Given the description of an element on the screen output the (x, y) to click on. 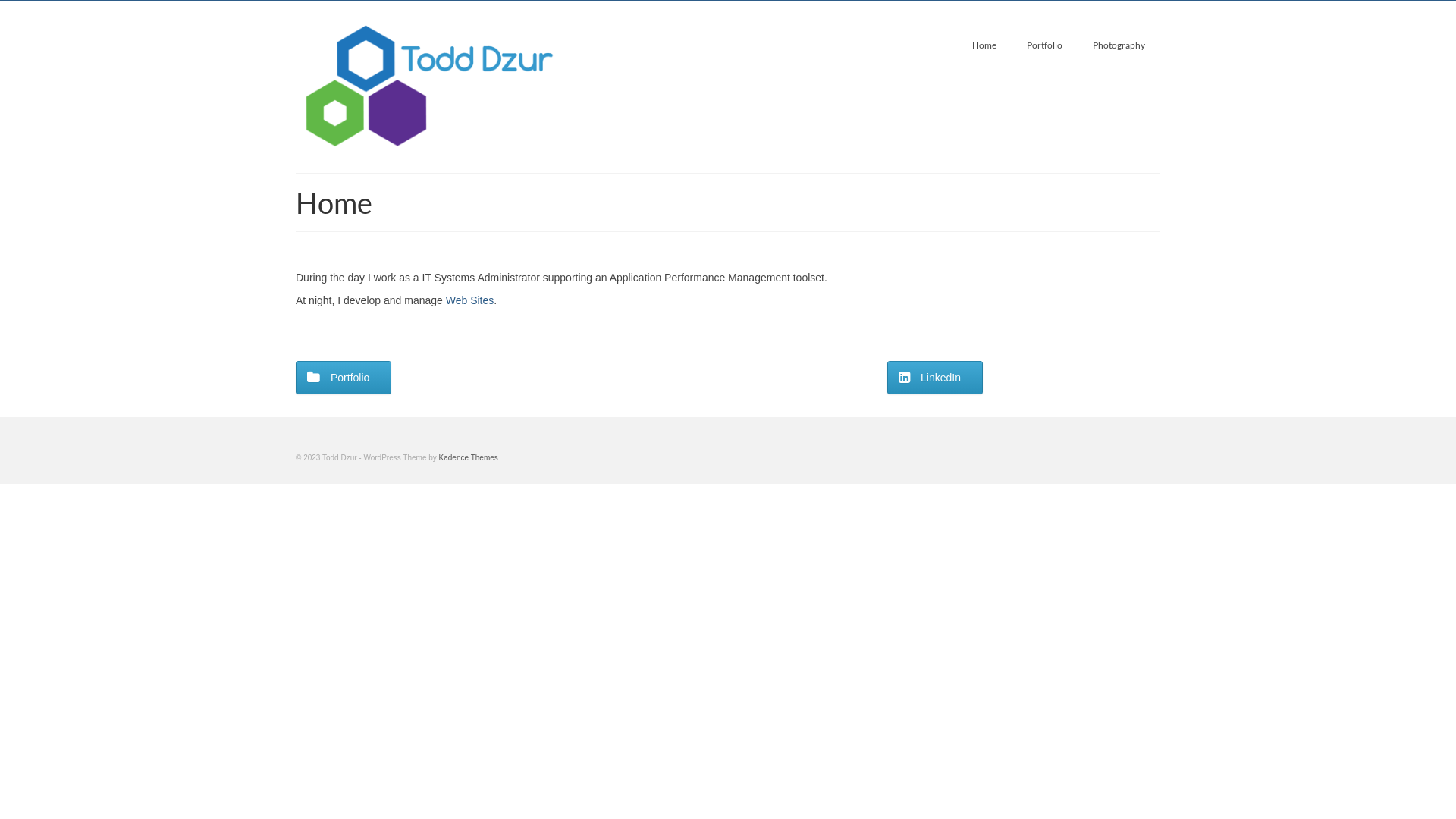
Web Sites Element type: text (469, 300)
LinkedIn Element type: text (934, 377)
Photography Element type: text (1118, 45)
Kadence Themes Element type: text (468, 457)
Portfolio Element type: text (1044, 45)
Portfolio Element type: text (343, 377)
Home Element type: text (984, 45)
